Given the description of an element on the screen output the (x, y) to click on. 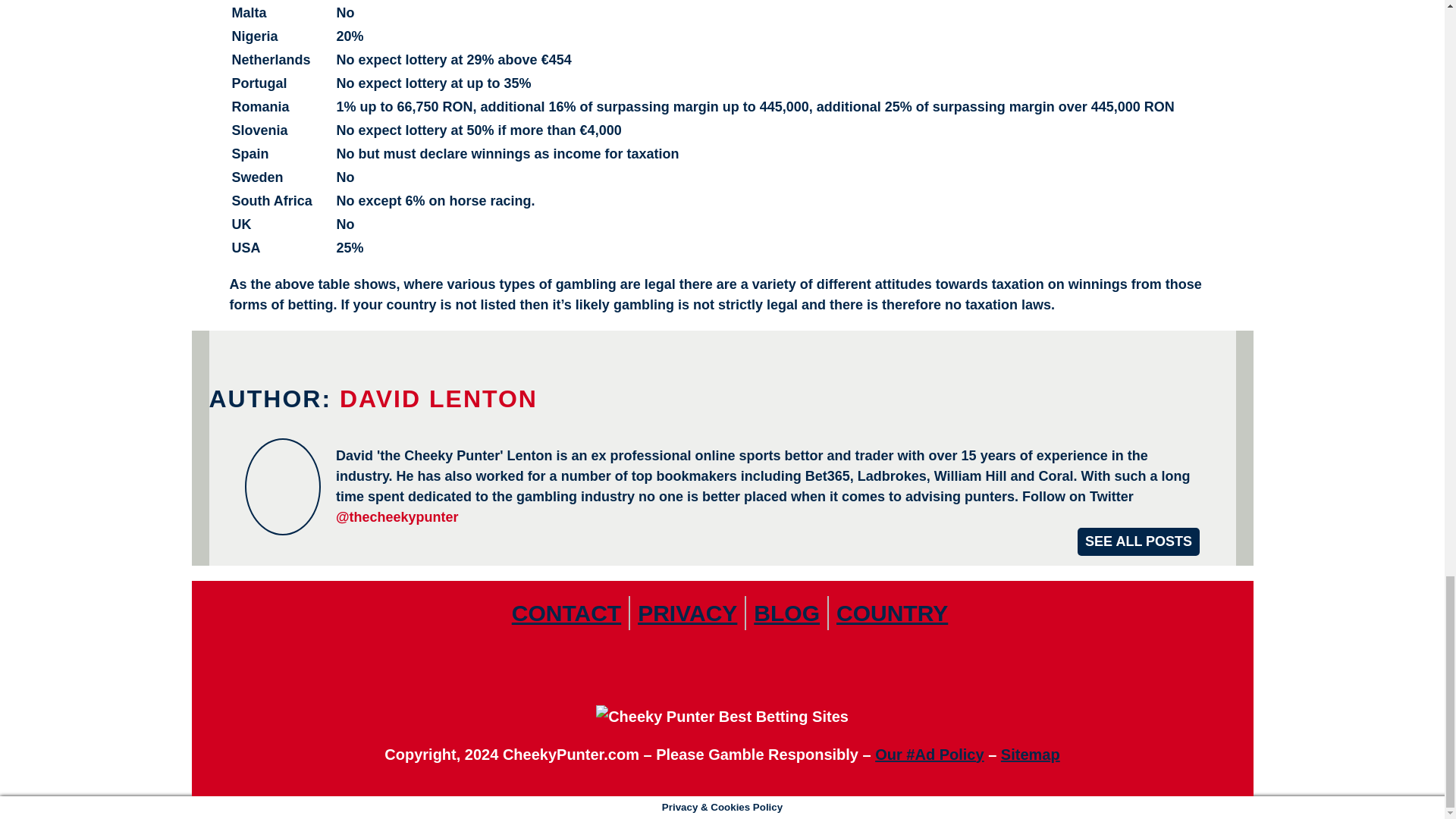
David Lenton (1138, 541)
David Lenton (438, 398)
